Given the description of an element on the screen output the (x, y) to click on. 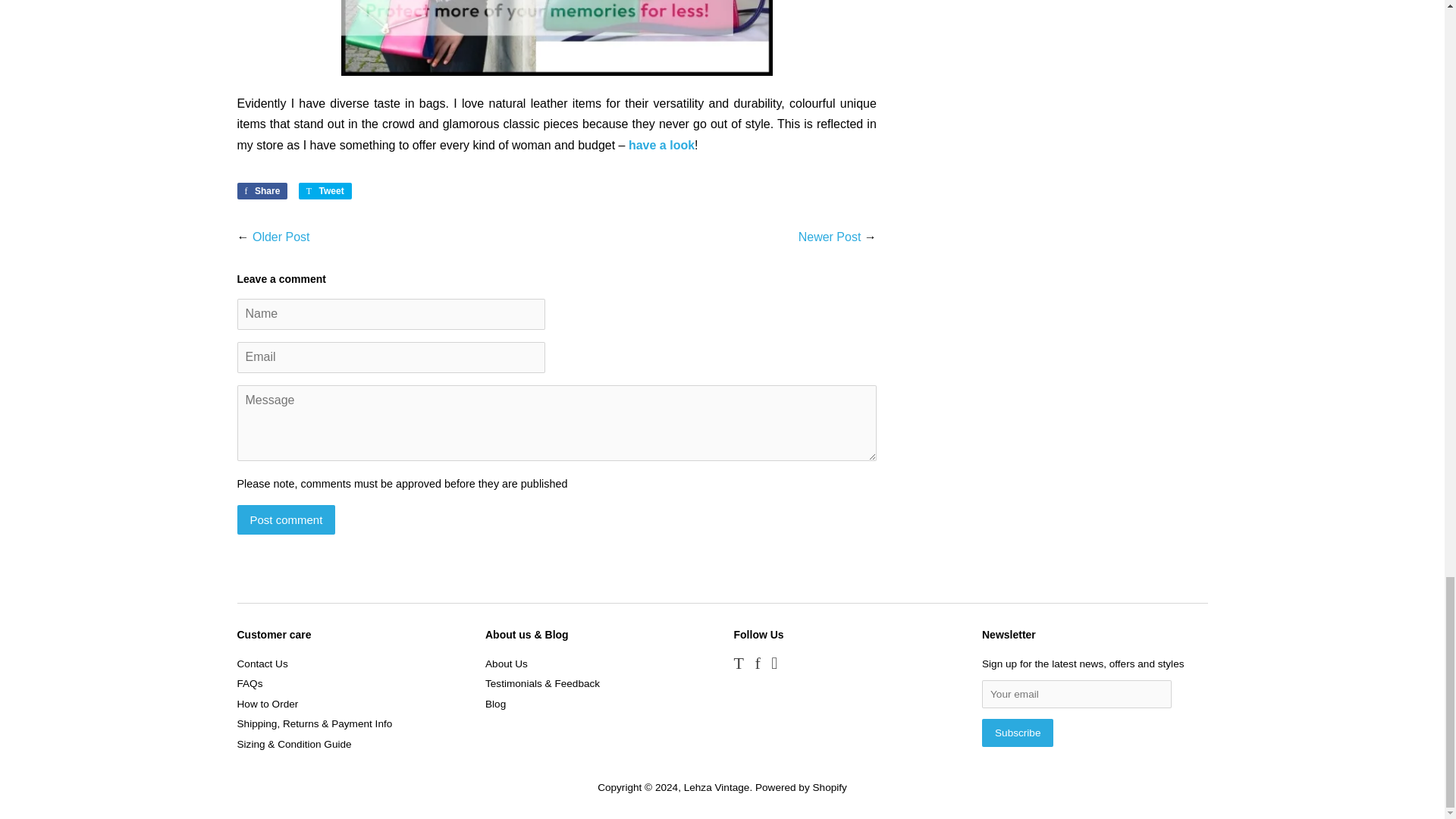
Subscribe (1016, 732)
Post comment (284, 519)
Share on Facebook (260, 190)
Tweet on Twitter (325, 190)
vintage bags (556, 38)
Lehza Vintage store (661, 144)
